Given the description of an element on the screen output the (x, y) to click on. 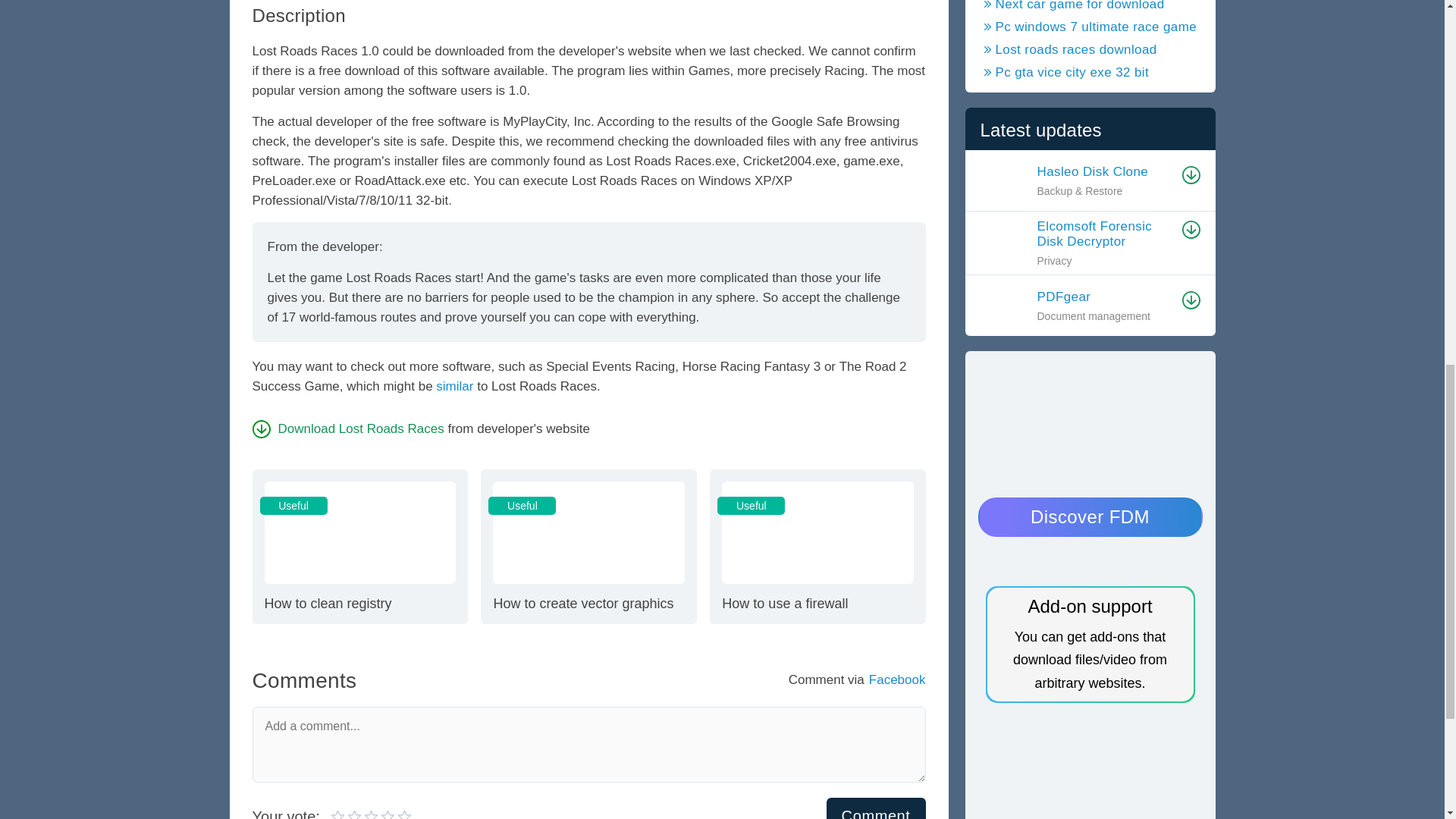
1 (587, 545)
Download Lost Roads Races (338, 814)
4 (347, 428)
Comment (363, 814)
3 (876, 808)
2 (359, 545)
similar (355, 814)
5 (346, 814)
